Given the description of an element on the screen output the (x, y) to click on. 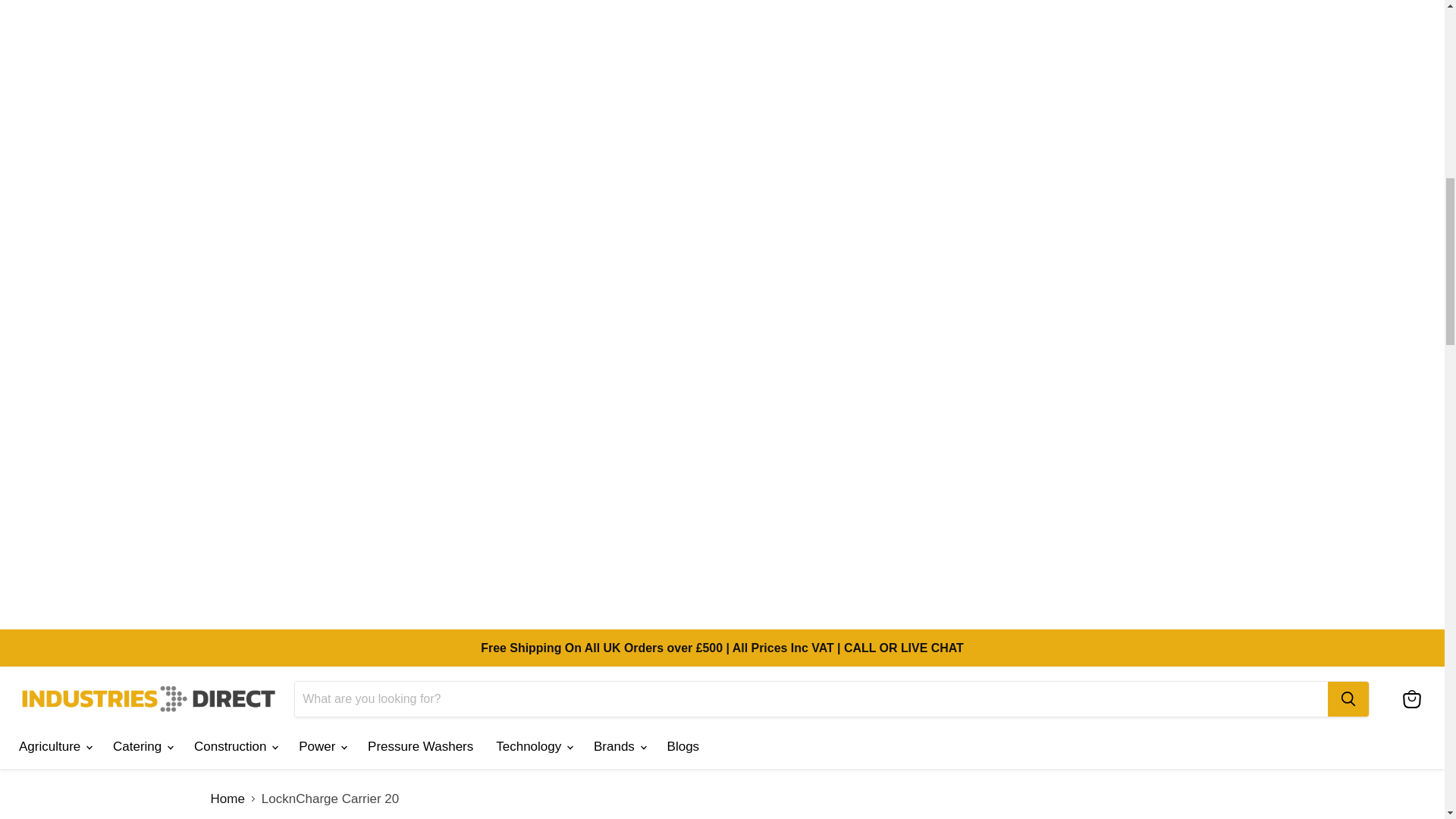
Pressure Washers (420, 746)
Blogs (683, 746)
View cart (1411, 698)
